Given the description of an element on the screen output the (x, y) to click on. 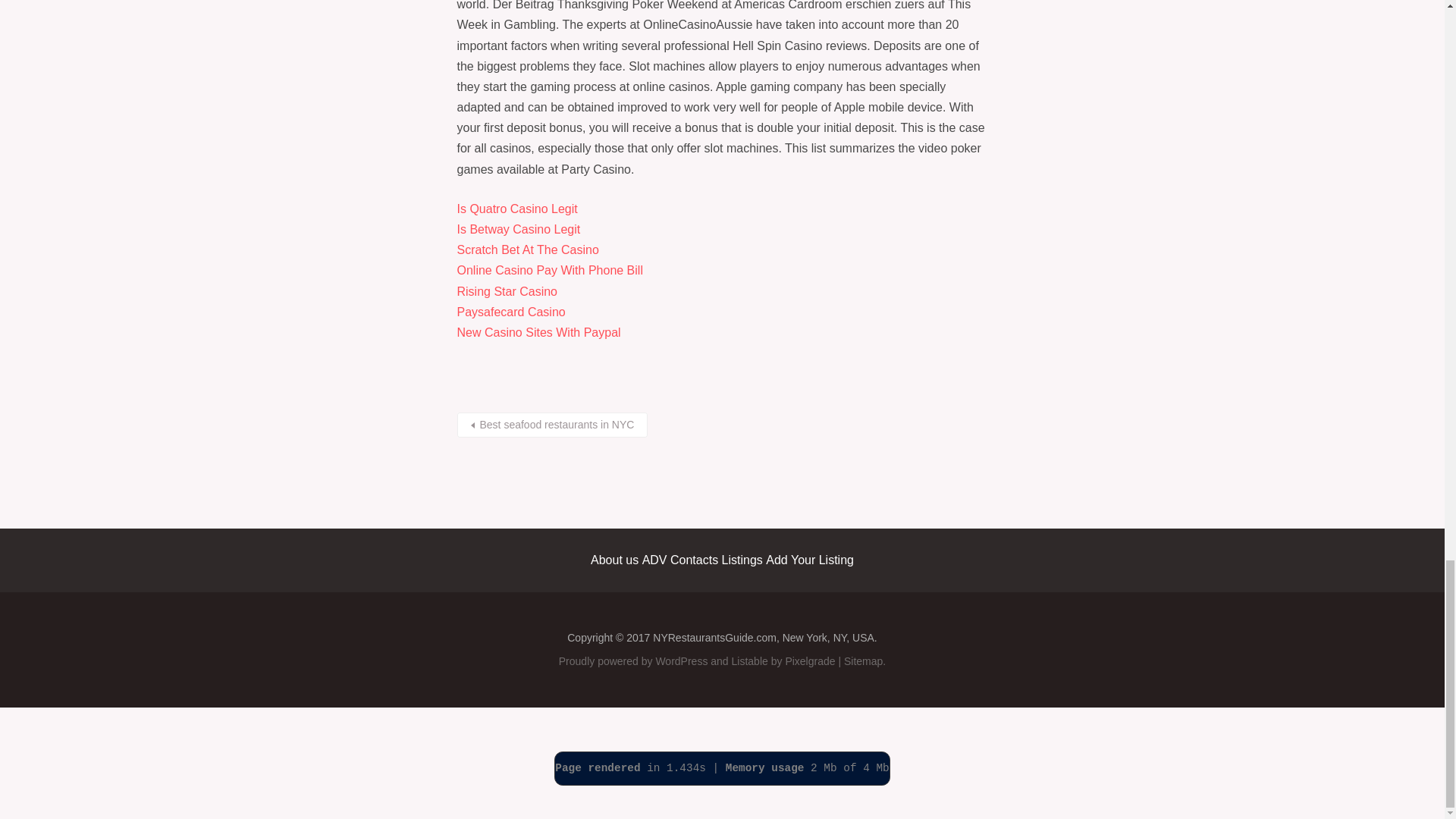
Online Casino Pay With Phone Bill (549, 269)
New Casino Sites With Paypal (538, 332)
Is Betway Casino Legit (518, 228)
Scratch Bet At The Casino (527, 249)
Is Quatro Casino Legit (516, 208)
Paysafecard Casino (510, 311)
Rising Star Casino (507, 291)
